Given the description of an element on the screen output the (x, y) to click on. 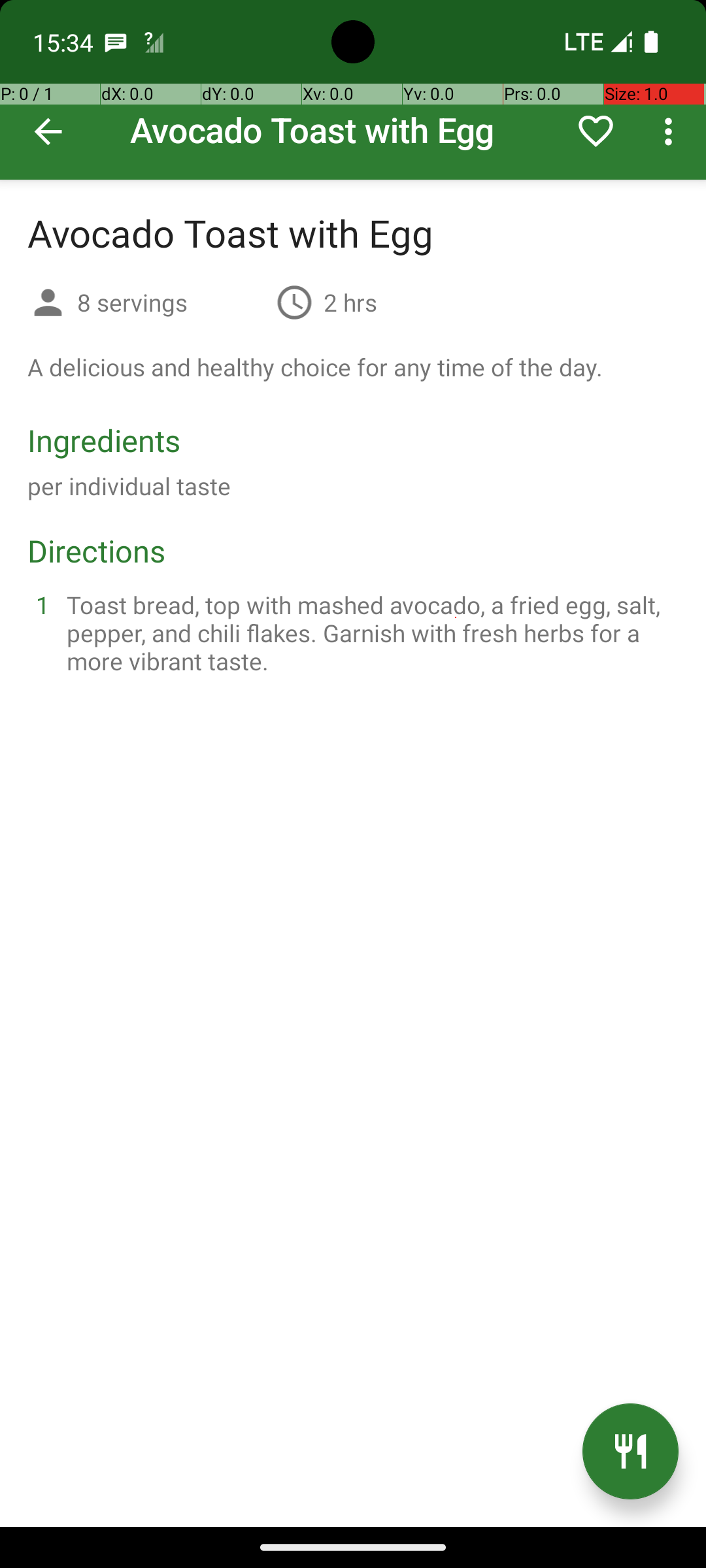
Toast bread, top with mashed avocado, a fried egg, salt, pepper, and chili flakes. Garnish with fresh herbs for a more vibrant taste. Element type: android.widget.TextView (368, 632)
